Given the description of an element on the screen output the (x, y) to click on. 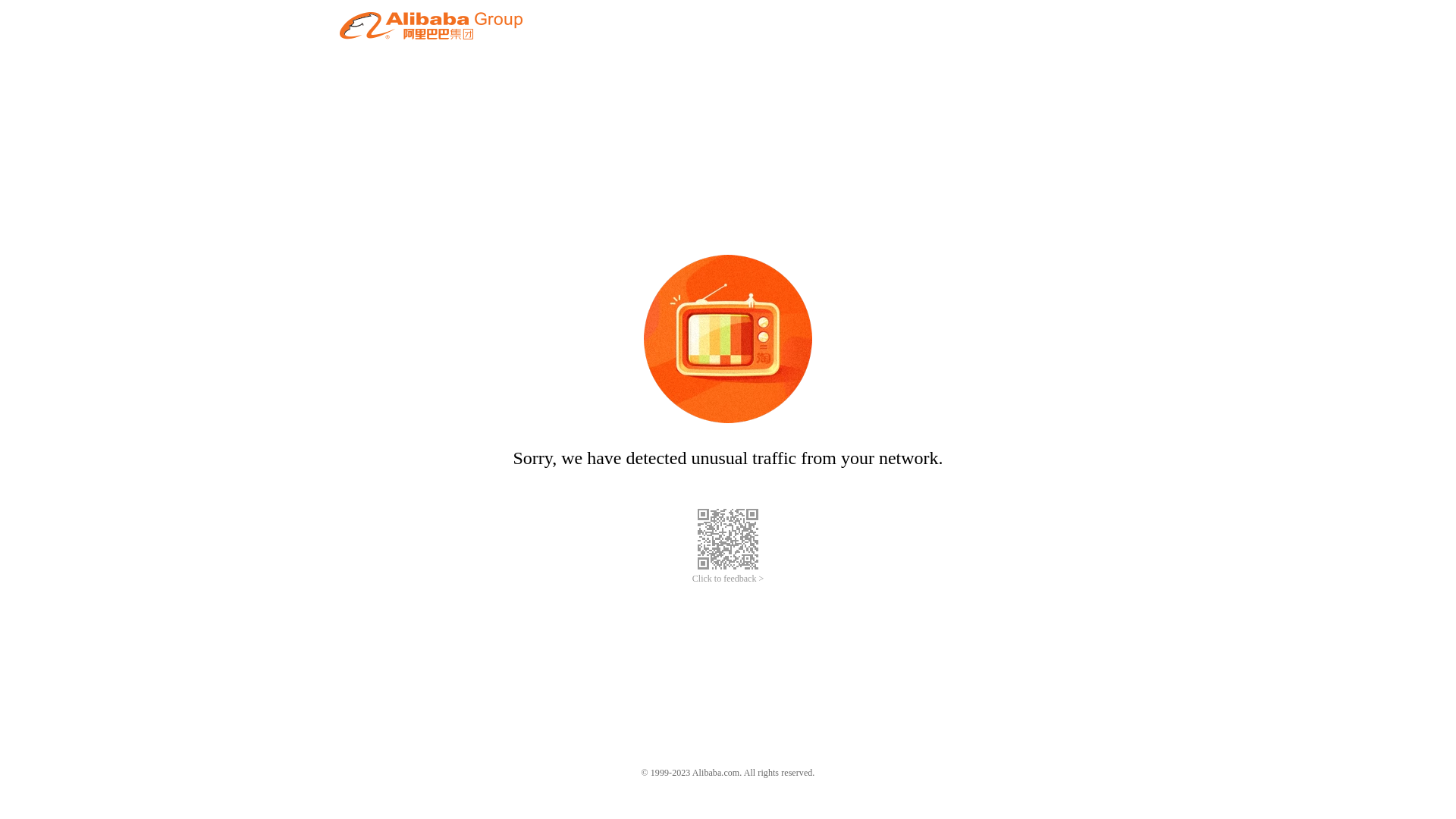
Click to feedback > Element type: text (727, 578)
